Given the description of an element on the screen output the (x, y) to click on. 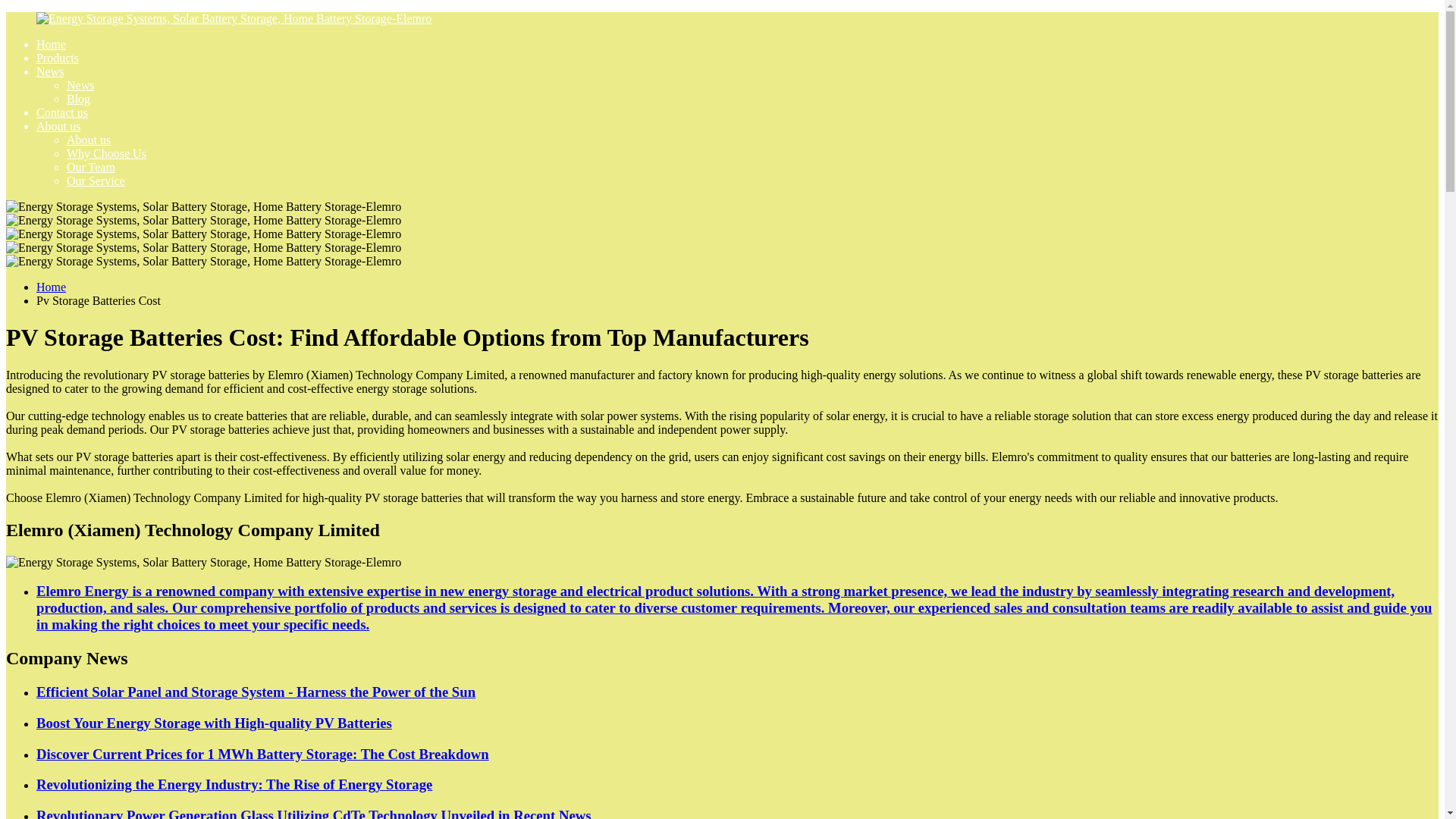
Our Service (95, 180)
Home (50, 43)
News (50, 71)
News (80, 84)
Blog (78, 98)
About us (88, 139)
Why Choose Us (106, 153)
Home (50, 286)
Our Team (90, 166)
About us (58, 125)
Contact us (61, 112)
Products (57, 57)
